Given the description of an element on the screen output the (x, y) to click on. 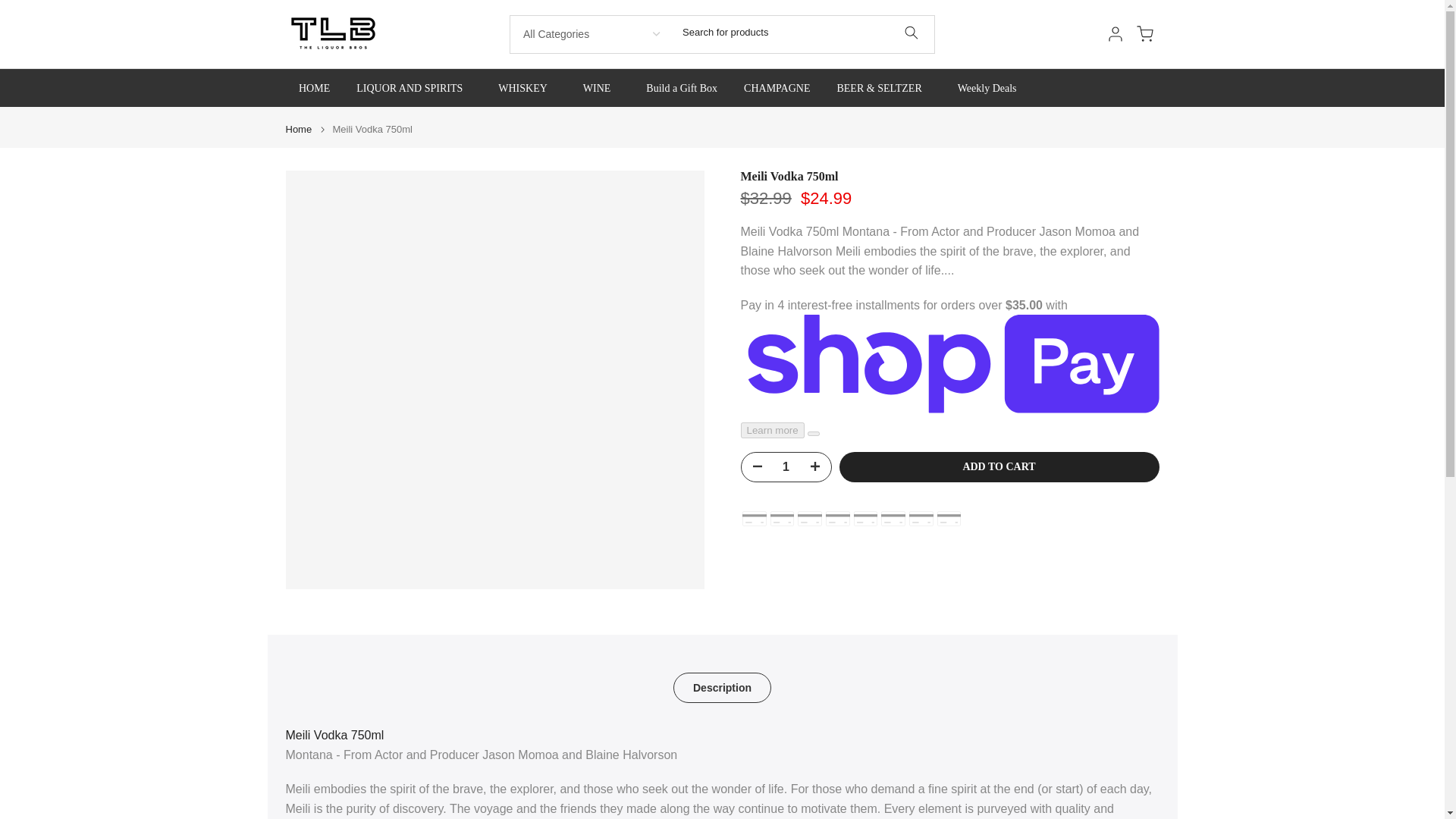
WINE (601, 88)
ADD TO CART (998, 467)
HOME (313, 88)
Skip to content (10, 7)
1 (786, 466)
Home (298, 129)
WHISKEY (527, 88)
Weekly Deals (986, 88)
Build a Gift Box (681, 88)
LIQUOR AND SPIRITS (413, 88)
Description (721, 687)
CHAMPAGNE (777, 88)
